Given the description of an element on the screen output the (x, y) to click on. 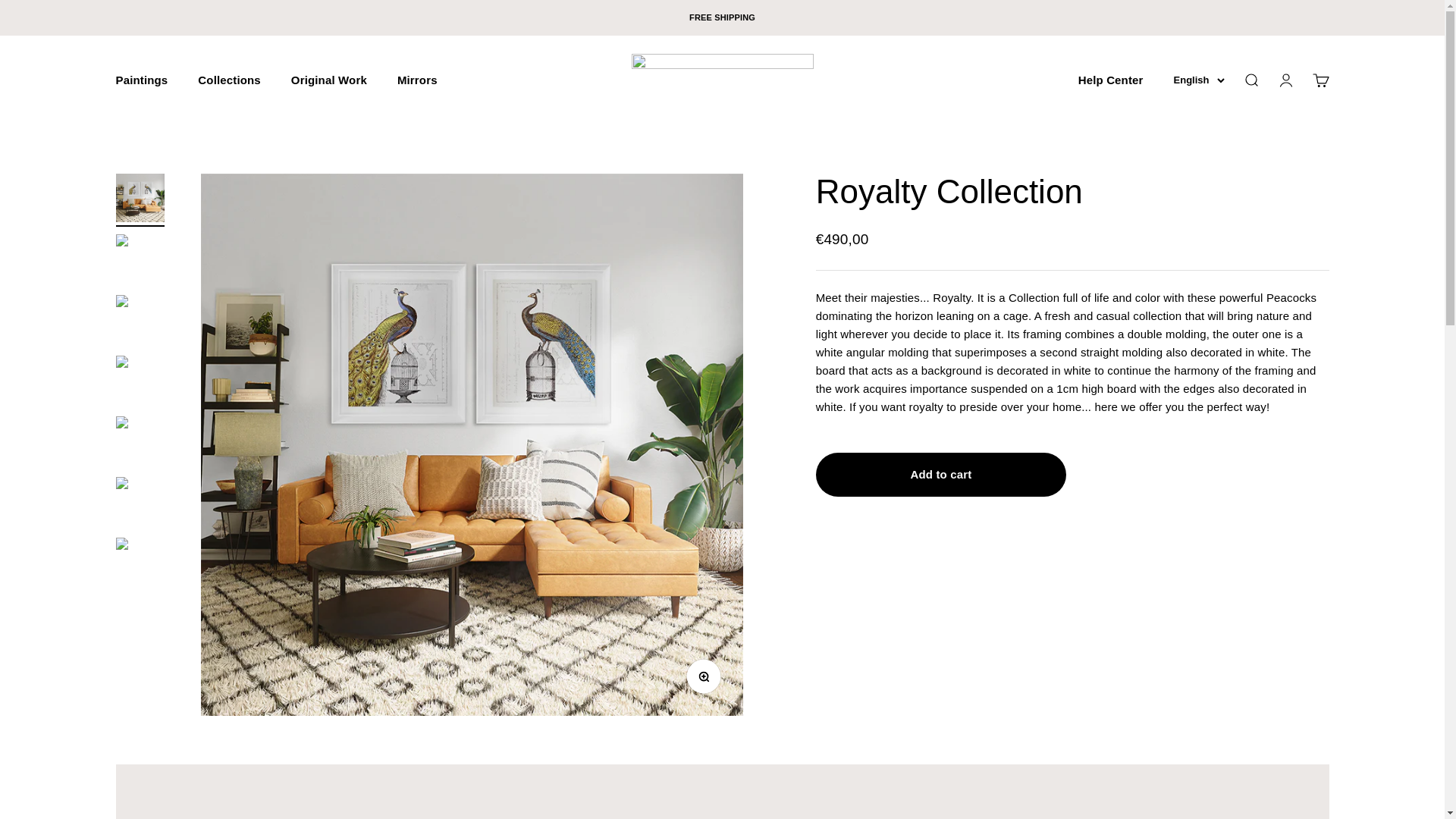
Paintings (1319, 80)
Help Center (141, 79)
Original Work (1110, 79)
English (328, 79)
La Casa de los Cuadros (1198, 79)
Mirrors (721, 80)
Open search (417, 79)
Collections (1250, 80)
Zoom (229, 79)
Open account page (707, 680)
